Given the description of an element on the screen output the (x, y) to click on. 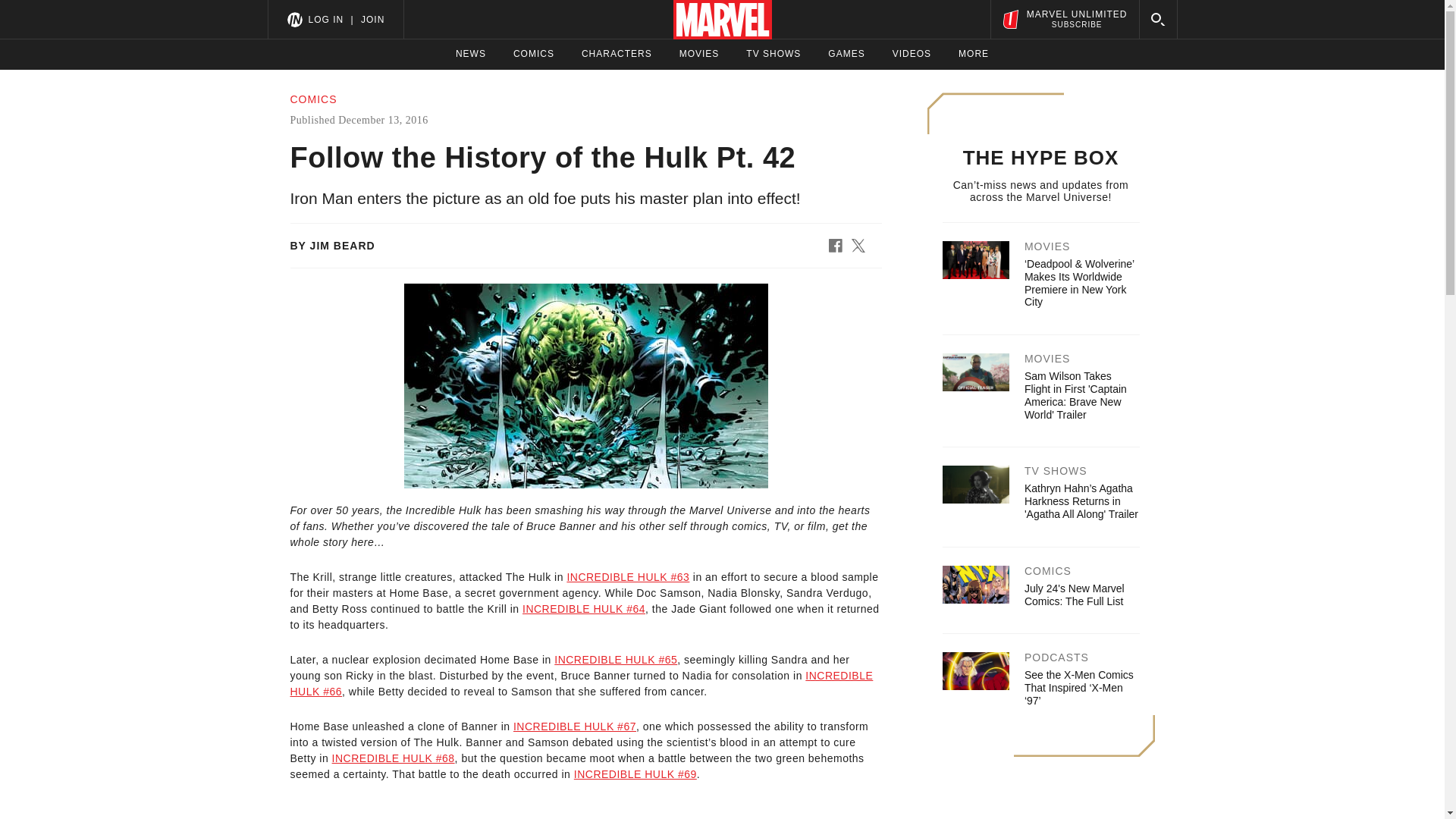
MOVIES (699, 54)
JOIN (372, 18)
MORE (973, 54)
COMICS (533, 54)
CHARACTERS (616, 54)
LOG IN (325, 18)
NEWS (470, 54)
VIDEOS (1064, 19)
GAMES (911, 54)
TV SHOWS (846, 54)
